Given the description of an element on the screen output the (x, y) to click on. 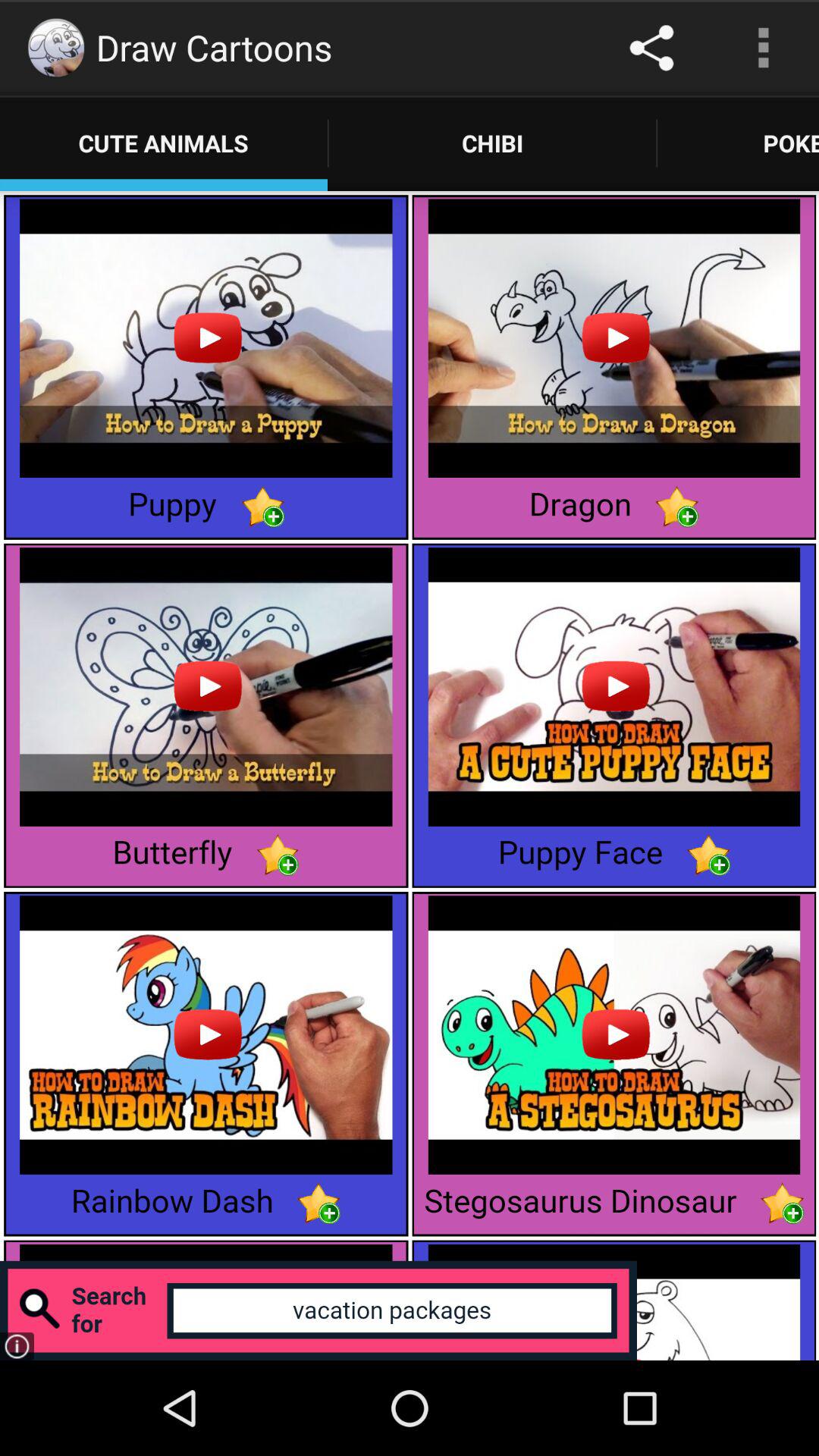
search for a term (318, 1310)
